Given the description of an element on the screen output the (x, y) to click on. 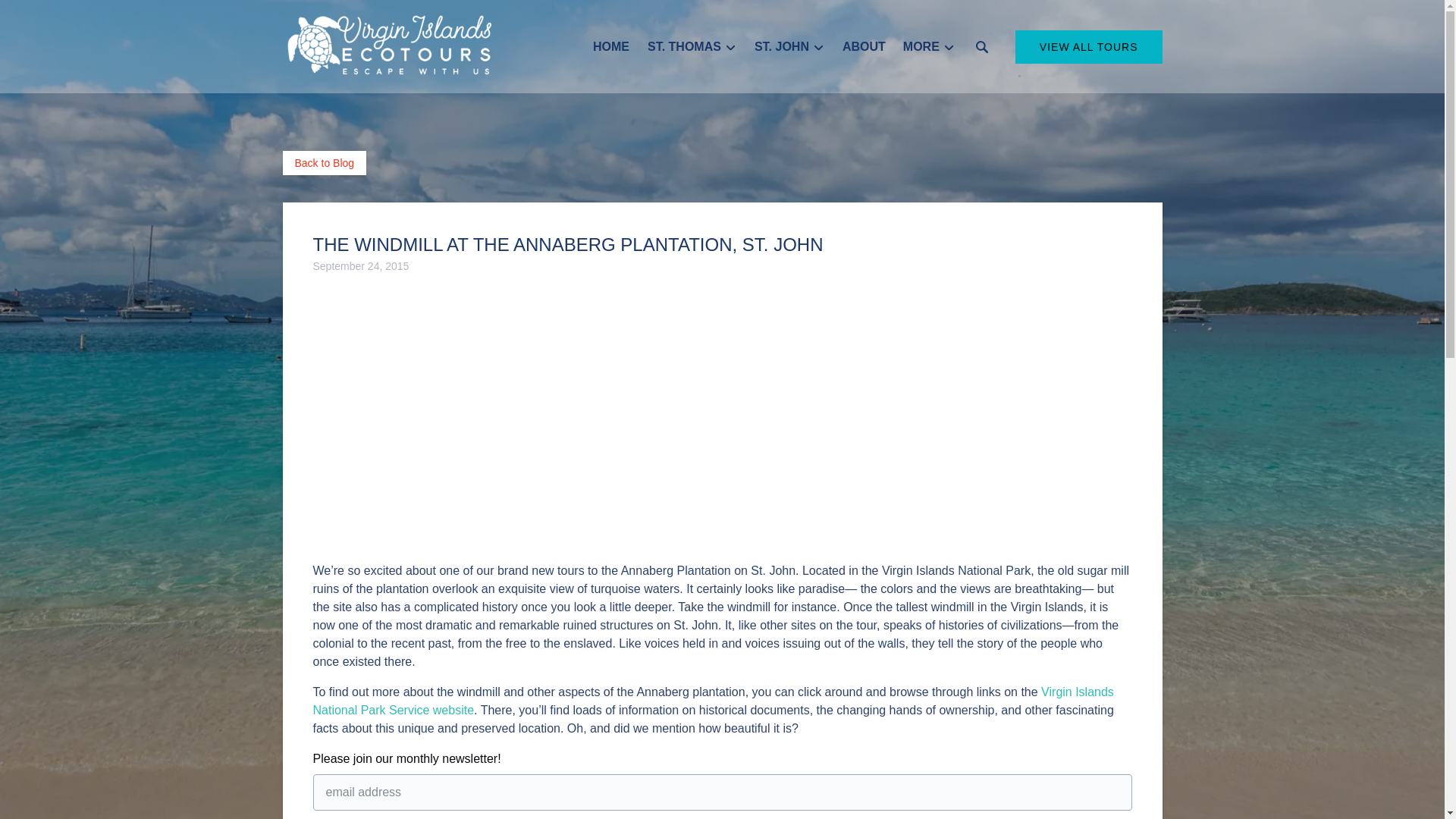
HOME (611, 46)
Open ST. THOMAS Menu (695, 42)
Skip to primary navigation (77, 16)
Open ST. JOHN Menu (792, 42)
Skip to footer (42, 16)
Back to Blog (324, 162)
ST. JOHN (788, 46)
Virgin Islands National Park Service website (713, 700)
Skip to content (47, 16)
ABOUT (863, 46)
